Given the description of an element on the screen output the (x, y) to click on. 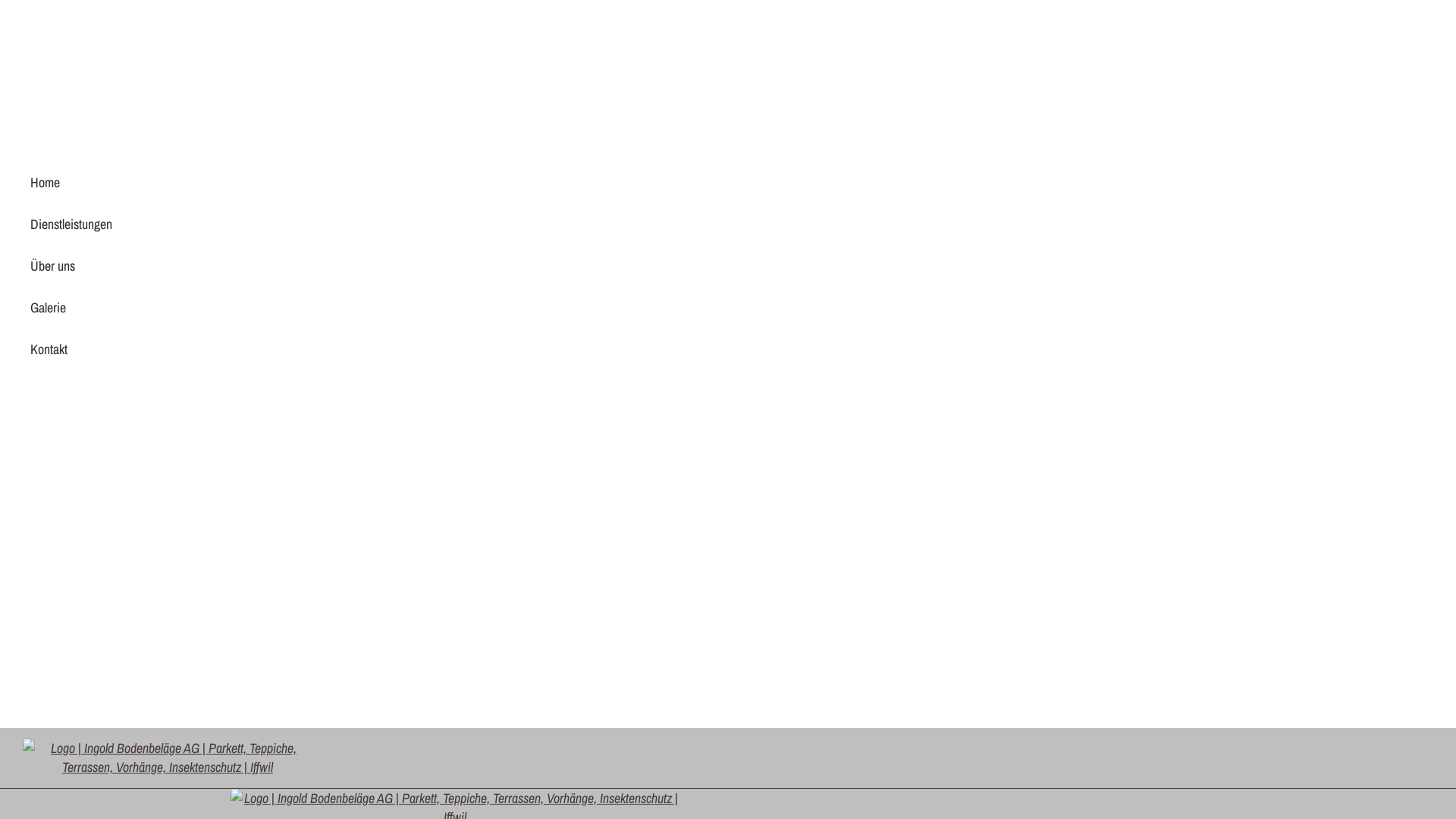
Dienstleistungen Element type: text (386, 223)
Kontakt Element type: text (386, 349)
Home Element type: text (386, 182)
Galerie Element type: text (386, 307)
